Given the description of an element on the screen output the (x, y) to click on. 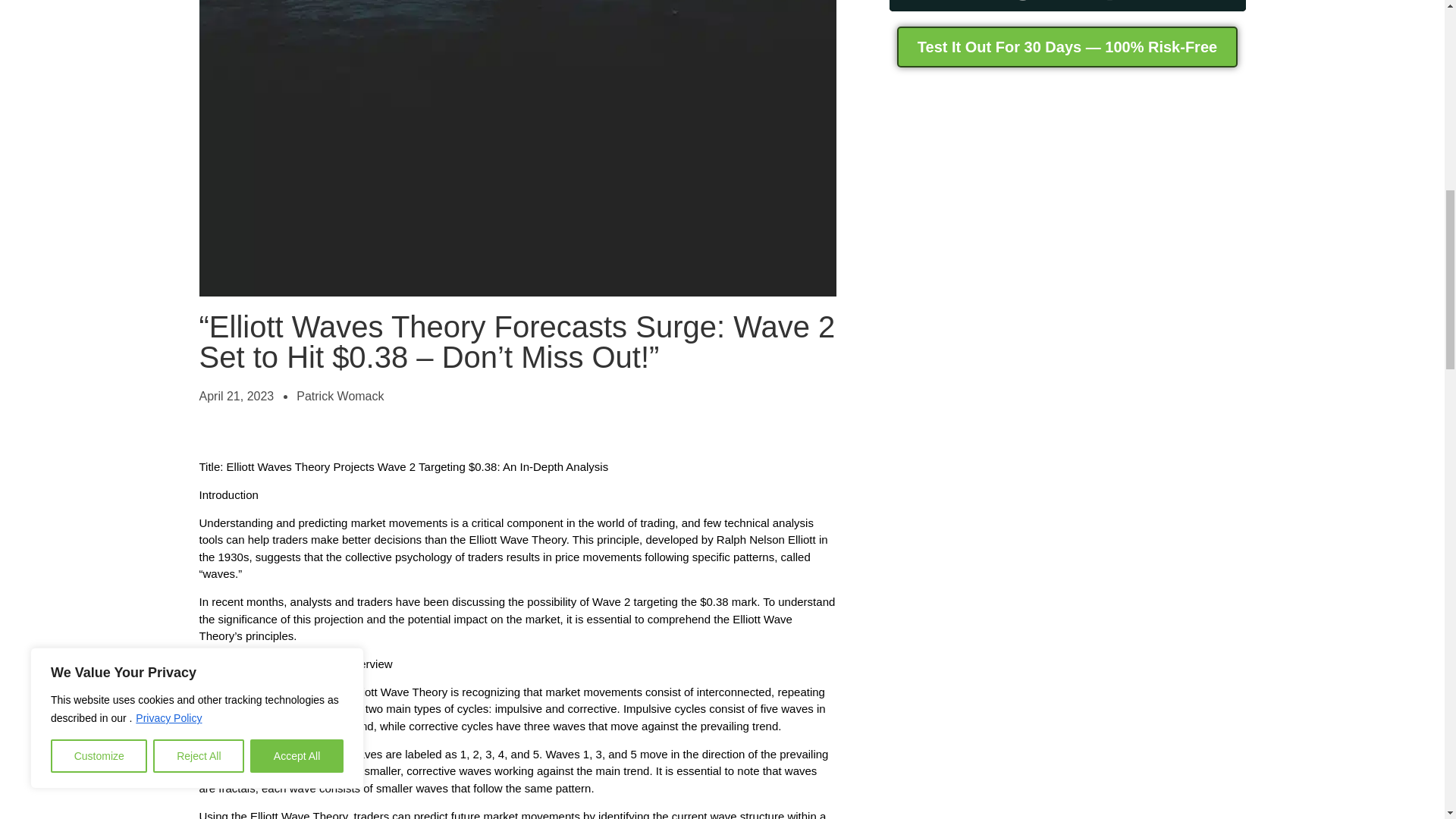
Patrick Womack (340, 396)
April 21, 2023 (235, 396)
